Given the description of an element on the screen output the (x, y) to click on. 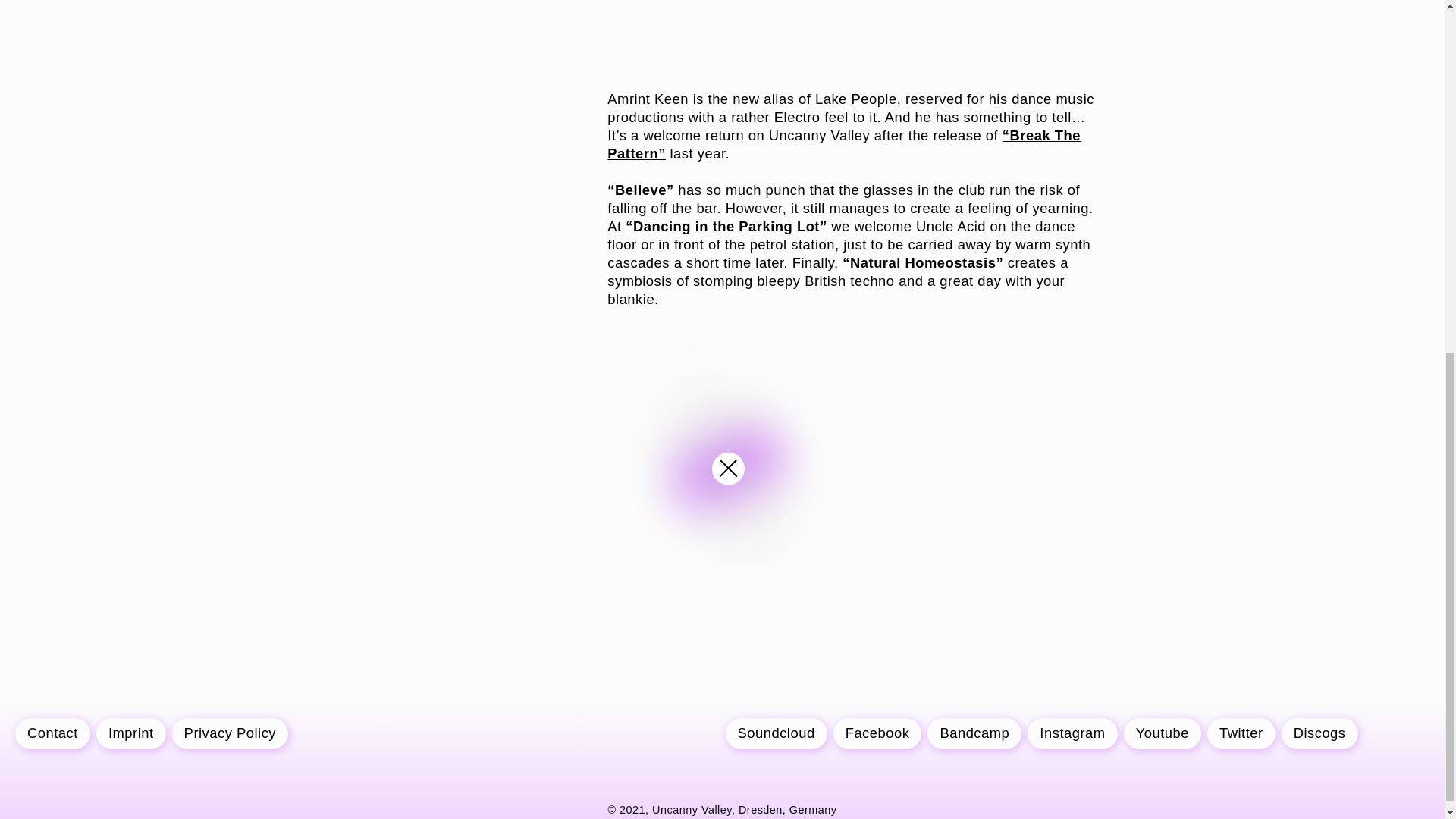
Instagram (1071, 733)
Facebook (876, 733)
Imprint (130, 733)
Soundcloud (776, 733)
Back (727, 468)
Privacy Policy (229, 733)
Discogs (1319, 733)
Twitter (1241, 733)
Youtube (1162, 733)
Bandcamp (974, 733)
